Given the description of an element on the screen output the (x, y) to click on. 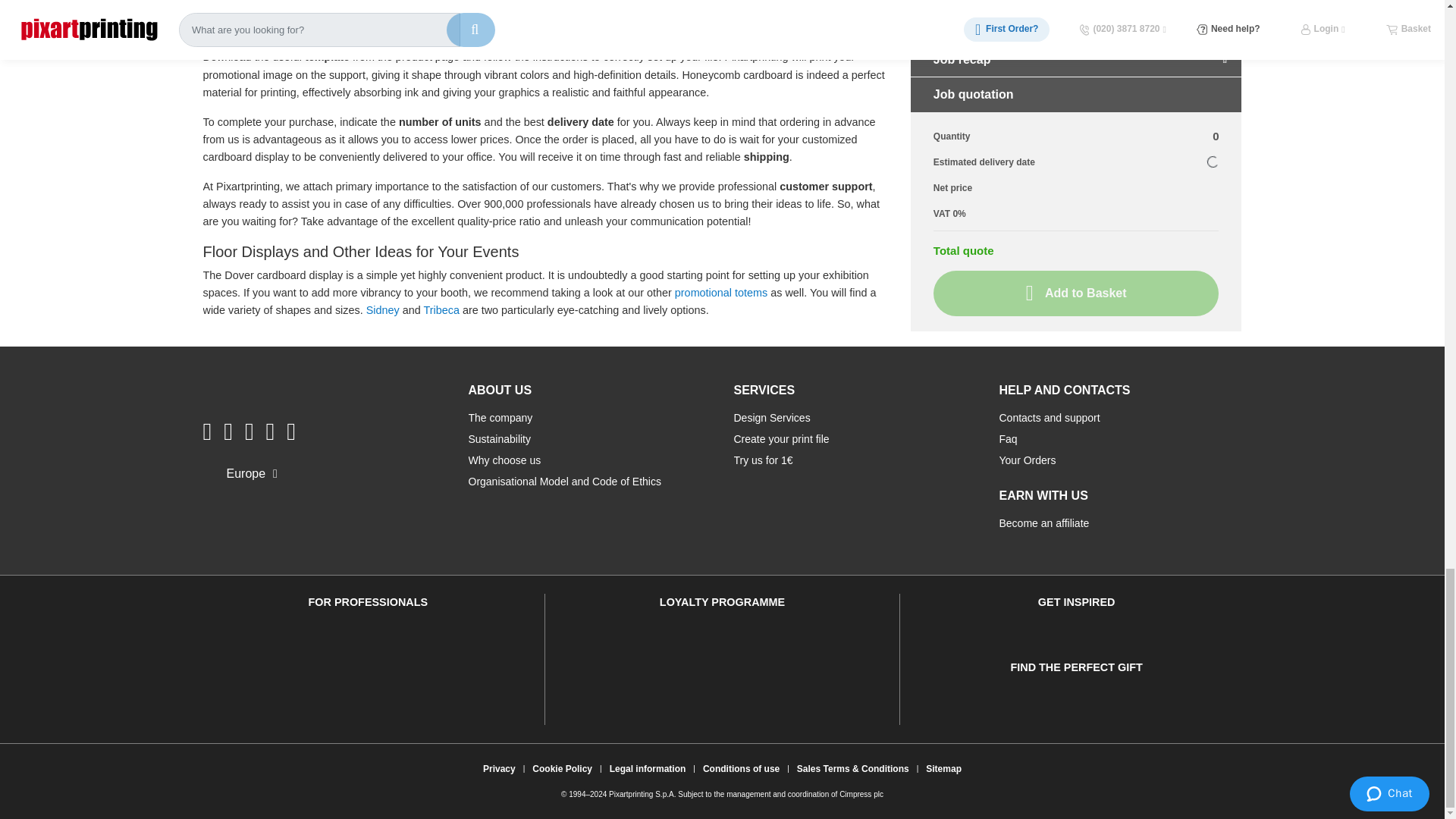
Conditions of use (741, 769)
Privacy (499, 769)
Cookie Policy (561, 769)
Sitemap (943, 769)
Legal information (648, 769)
